Given the description of an element on the screen output the (x, y) to click on. 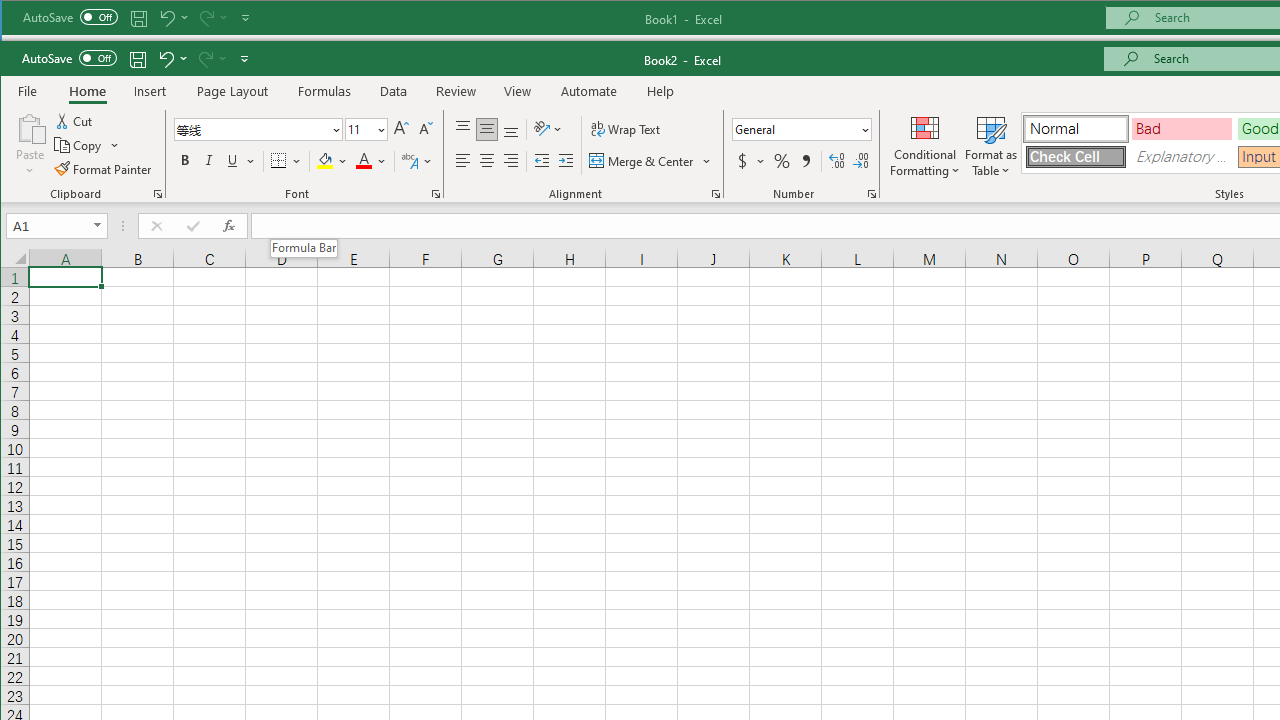
Format as Table (991, 145)
Font Color (371, 160)
Copy (79, 144)
Fill Color (331, 160)
Decrease Font Size (424, 129)
